Given the description of an element on the screen output the (x, y) to click on. 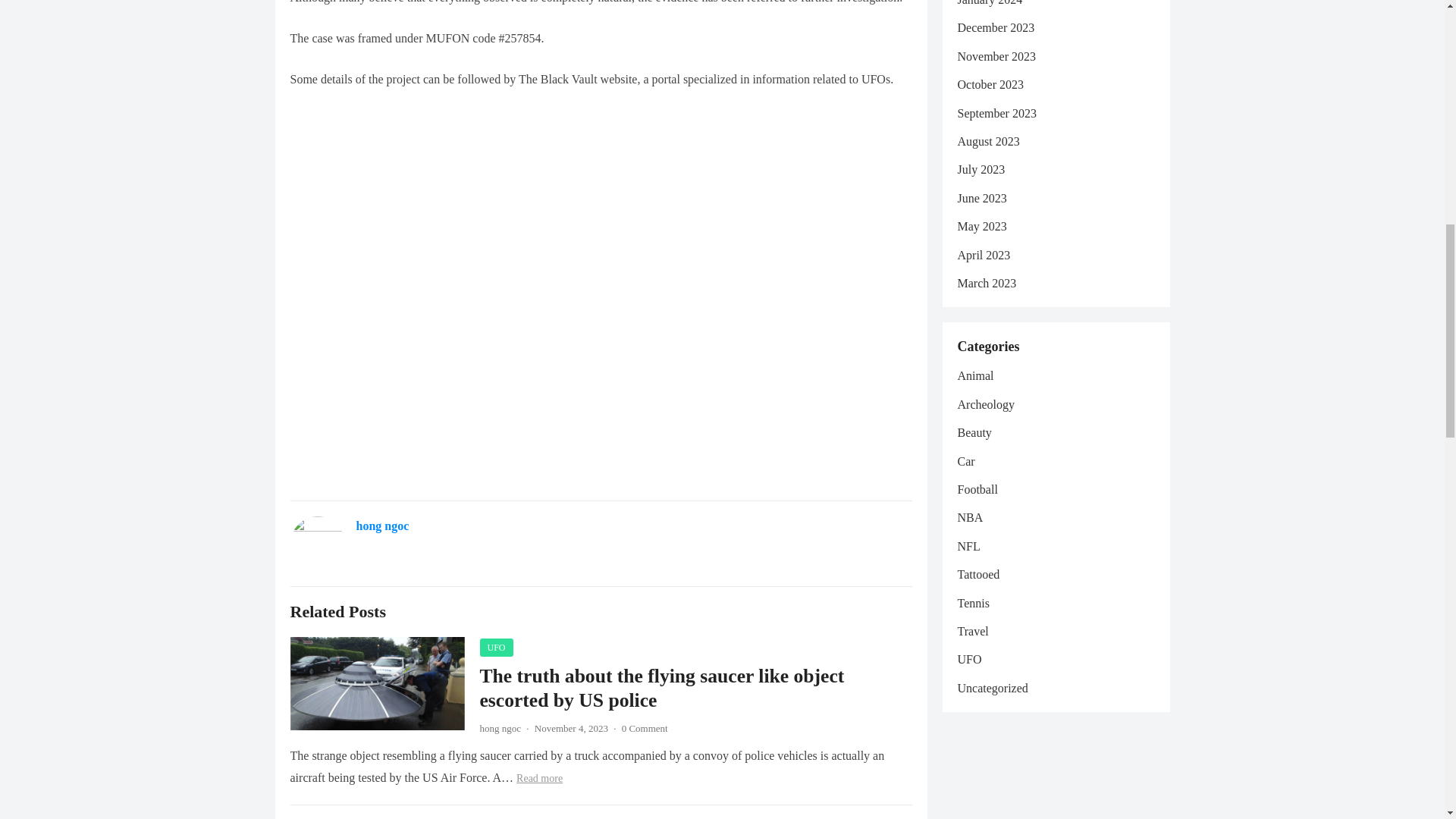
Read more (539, 778)
hong ngoc (382, 525)
UFO (495, 647)
hong ngoc (500, 727)
Posts by hong ngoc (500, 727)
0 Comment (644, 727)
